Given the description of an element on the screen output the (x, y) to click on. 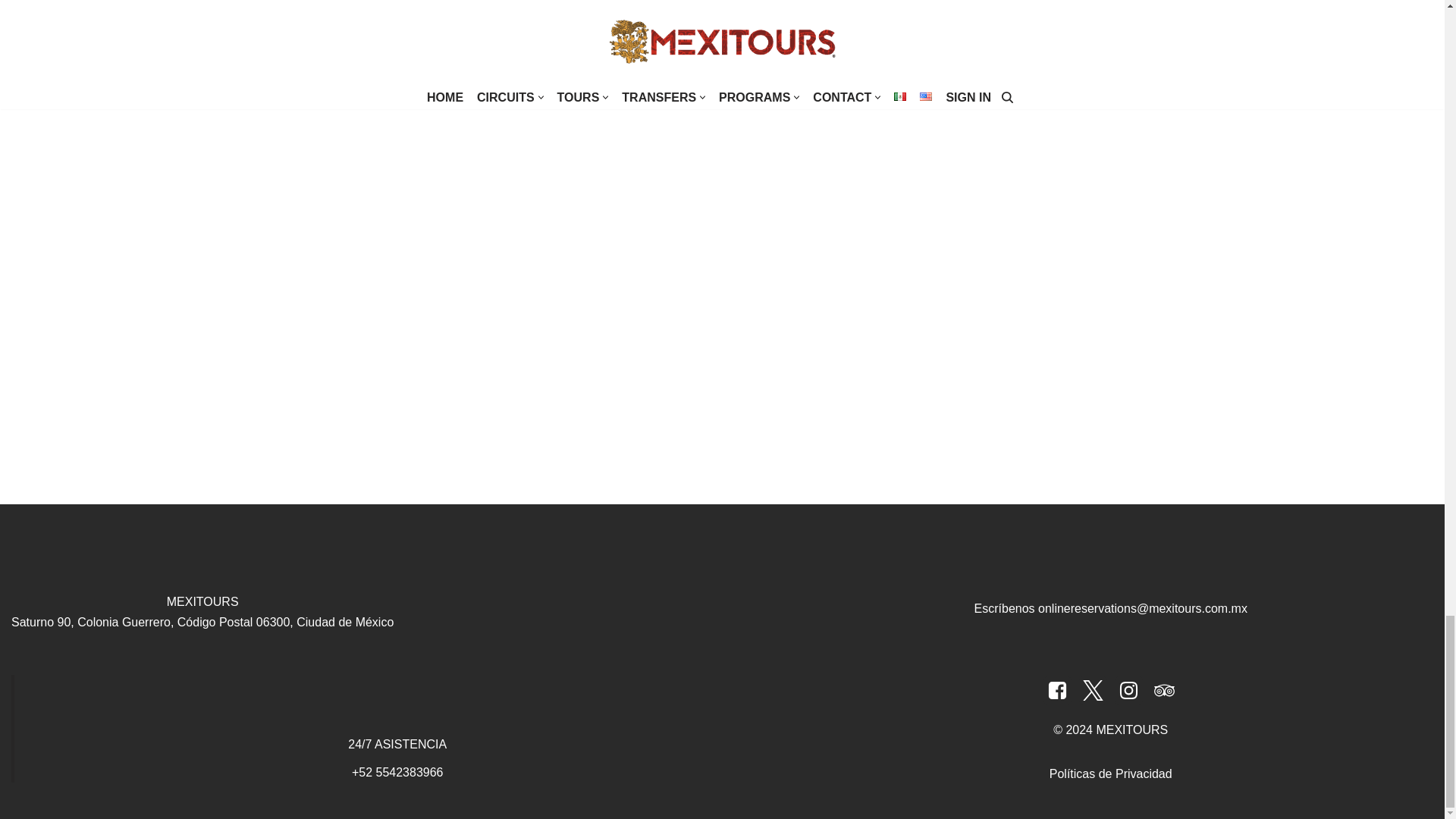
Instagram (1128, 690)
Twitter (1092, 690)
Facebook (1057, 690)
Tripadvisor (1163, 690)
